Given the description of an element on the screen output the (x, y) to click on. 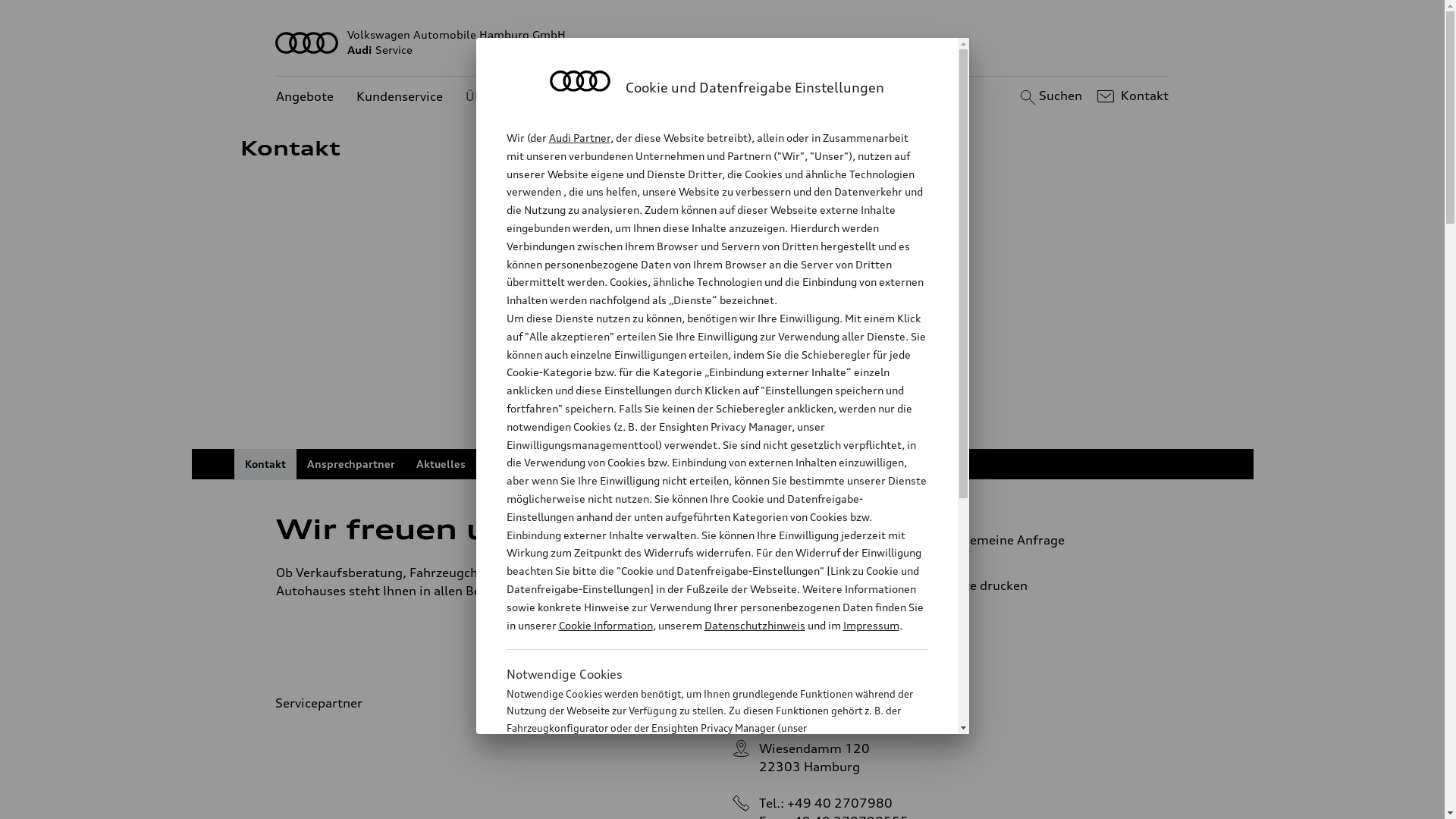
Kundenservice Element type: text (399, 96)
Angebote Element type: text (304, 96)
Wiesendamm 120
22303 Hamburg Element type: text (813, 757)
Volkswagen Automobile Hamburg GmbH
AudiService Element type: text (722, 42)
Impressum Element type: text (871, 624)
+49 40 2707980 Element type: text (839, 802)
Suchen Element type: text (1049, 96)
Aktuelles Element type: text (439, 463)
Cookie Information Element type: text (700, 802)
Datenschutzhinweis Element type: text (753, 624)
Kontakt Element type: text (1130, 96)
Seite drucken Element type: text (1044, 585)
Audi Partner Element type: text (579, 137)
Allgemeine Anfrage Element type: text (1038, 539)
Ansprechpartner Element type: text (349, 463)
Auszeichnungen Element type: text (528, 463)
Online Shop Element type: text (730, 463)
Cookie Information Element type: text (605, 624)
Kontakt Element type: text (264, 463)
Veranstaltungen Element type: text (634, 463)
